Given the description of an element on the screen output the (x, y) to click on. 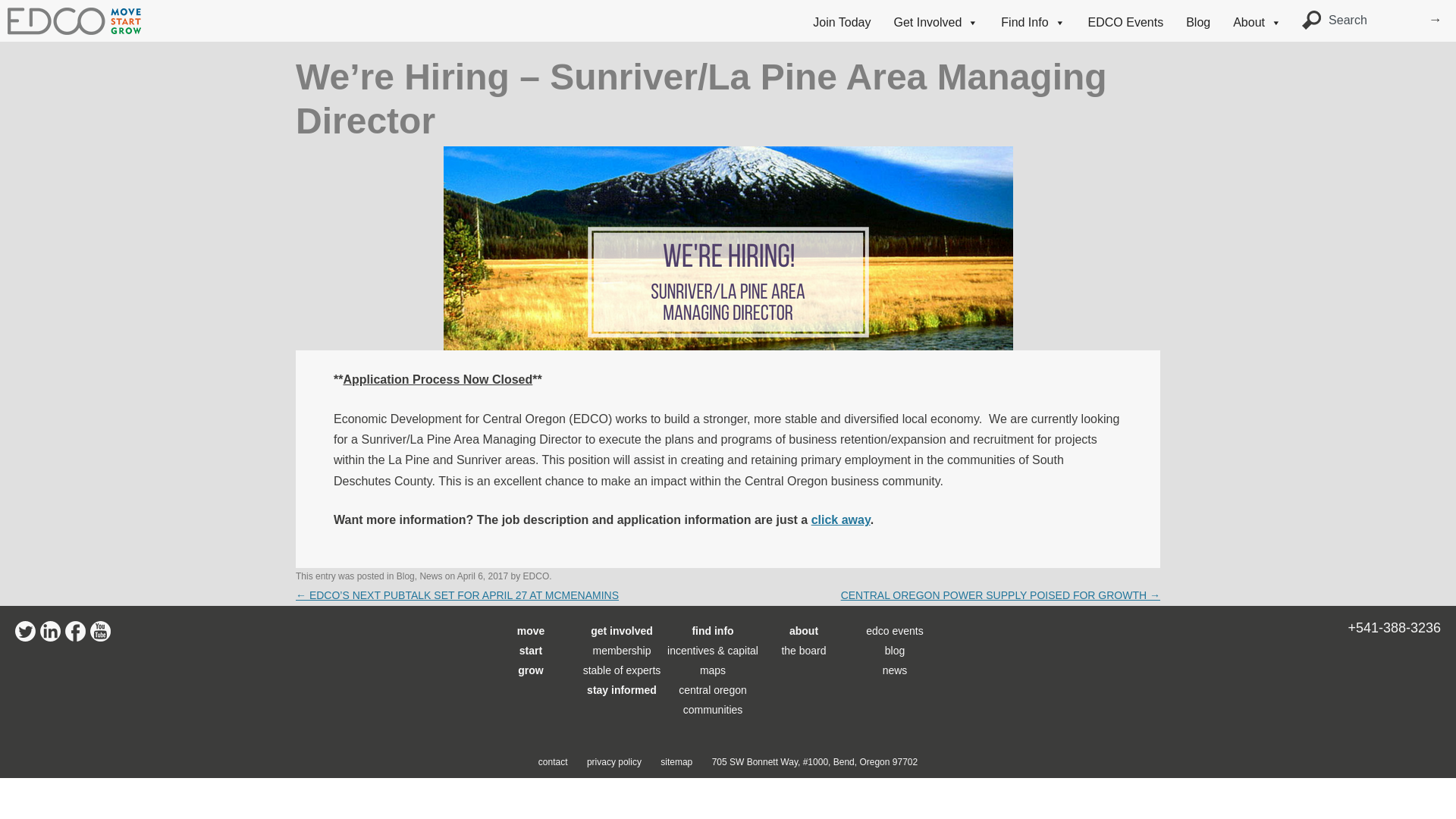
View all posts by EDCO (536, 575)
Blog (405, 575)
News (430, 575)
click away (840, 519)
Get Involved (935, 22)
About (1256, 22)
Economic Development for Central Oregon (74, 30)
Join Today (841, 22)
Find Info (1031, 22)
Economic Development for Central Oregon (202, 18)
EDCO (536, 575)
Blog (1197, 22)
EDCO Events (1126, 22)
1:58 PM (482, 575)
Economic Development for Central Oregon (202, 18)
